Given the description of an element on the screen output the (x, y) to click on. 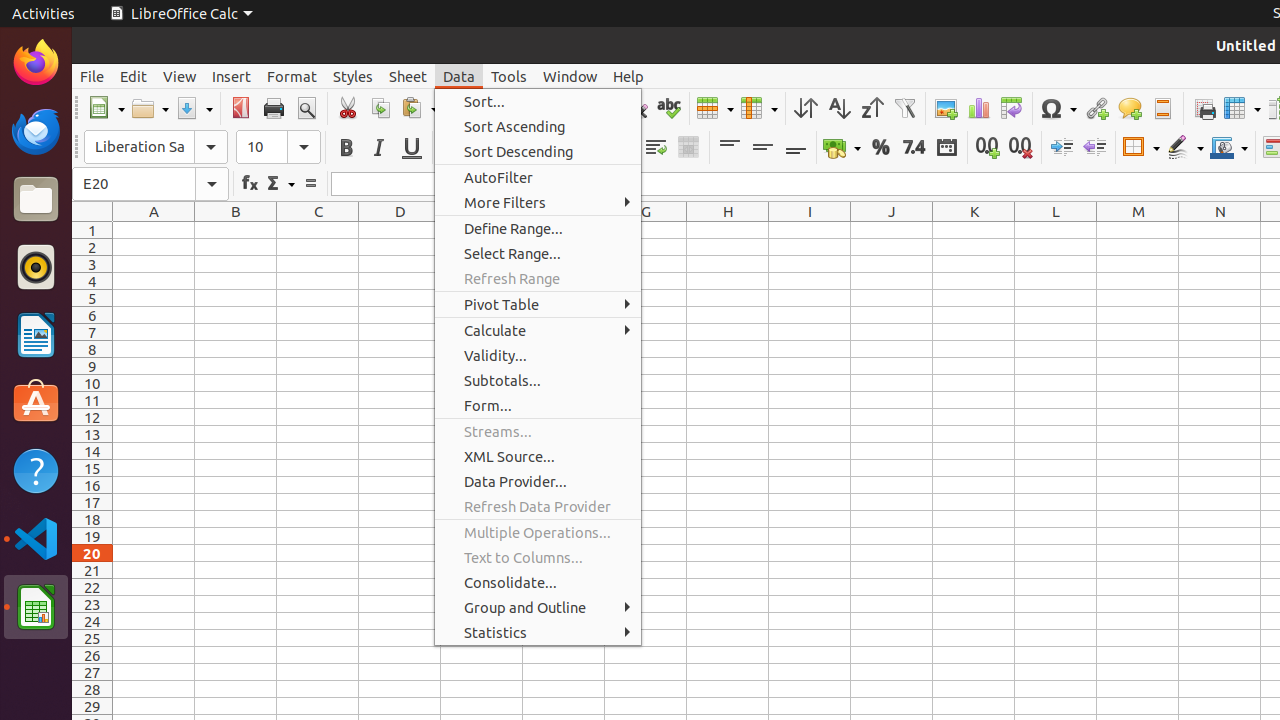
Borders (Shift to overwrite) Element type: push-button (1141, 147)
Font Size Element type: combo-box (278, 147)
Percent Element type: push-button (880, 147)
Hyperlink Element type: toggle-button (1096, 108)
Format Element type: menu (292, 76)
